Given the description of an element on the screen output the (x, y) to click on. 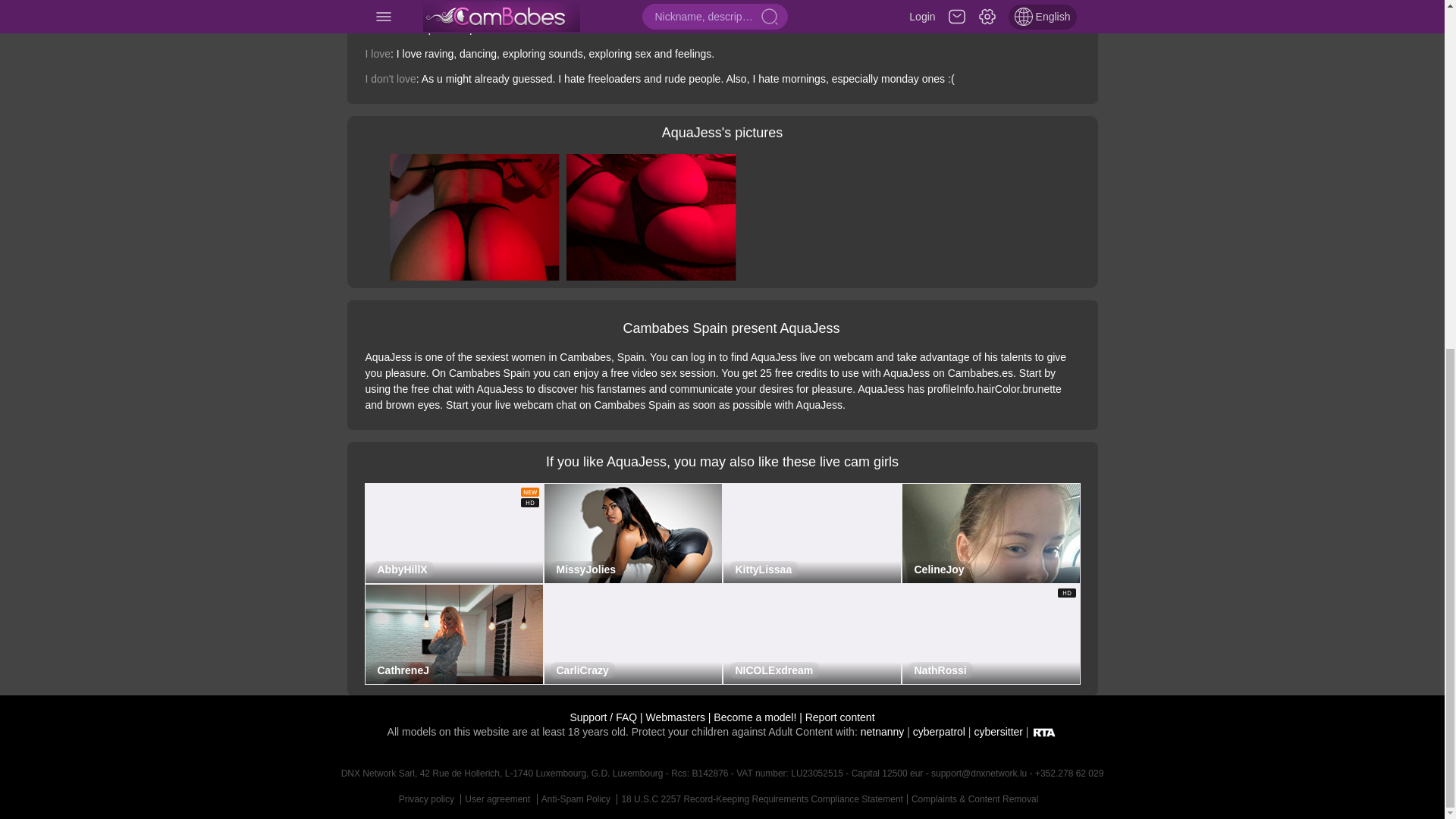
Missyjolies - sexcam (633, 533)
Celinejoy - sexcam (991, 533)
MissyJolies (586, 569)
AbbyHillX (402, 569)
